Given the description of an element on the screen output the (x, y) to click on. 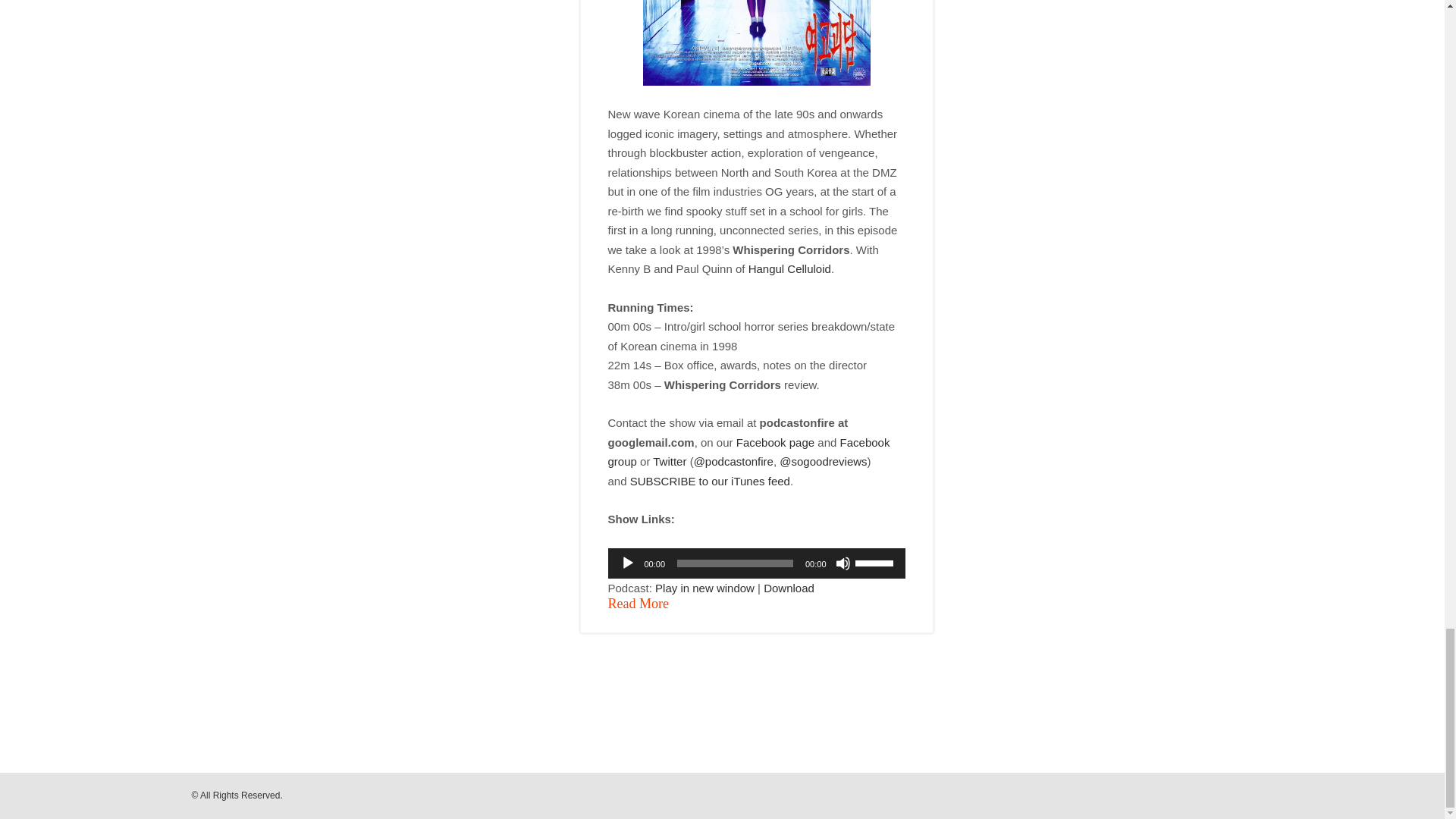
Play (627, 563)
Mute (842, 563)
